Given the description of an element on the screen output the (x, y) to click on. 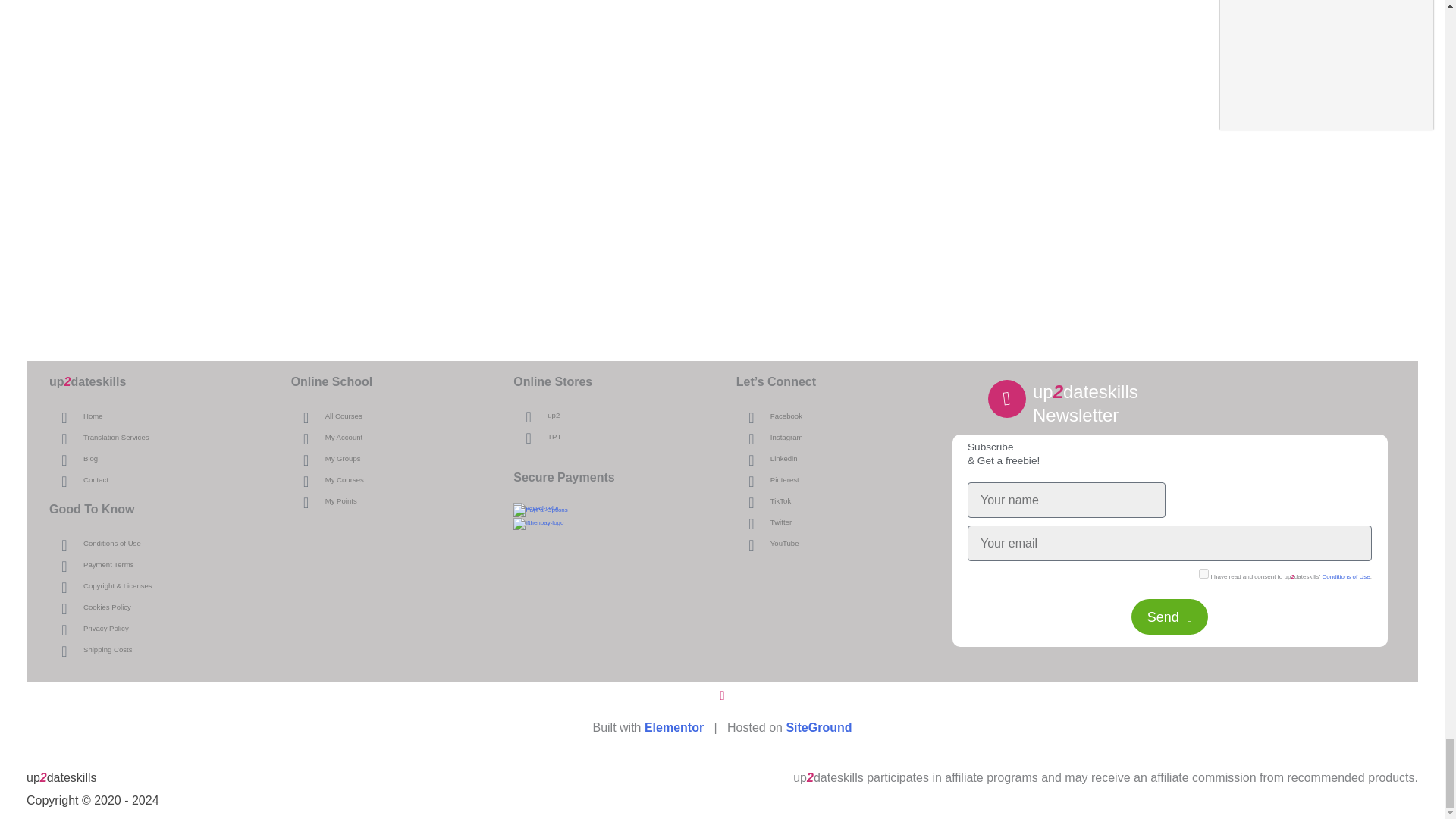
PayPal-Options (540, 510)
ifthenpay-logo (538, 523)
on (1203, 573)
paypal-color (536, 508)
